Given the description of an element on the screen output the (x, y) to click on. 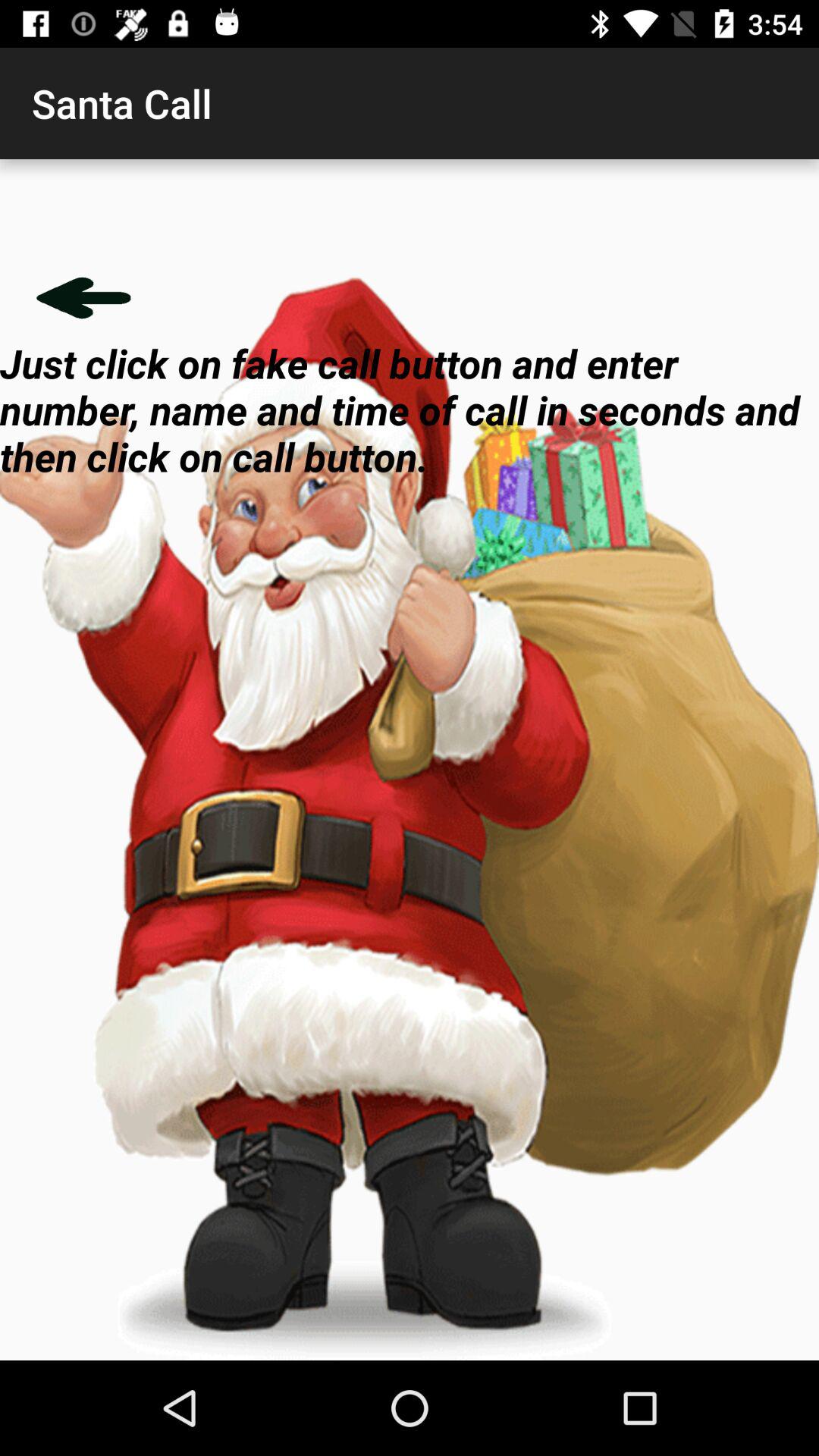
select icon above just click on item (83, 297)
